Given the description of an element on the screen output the (x, y) to click on. 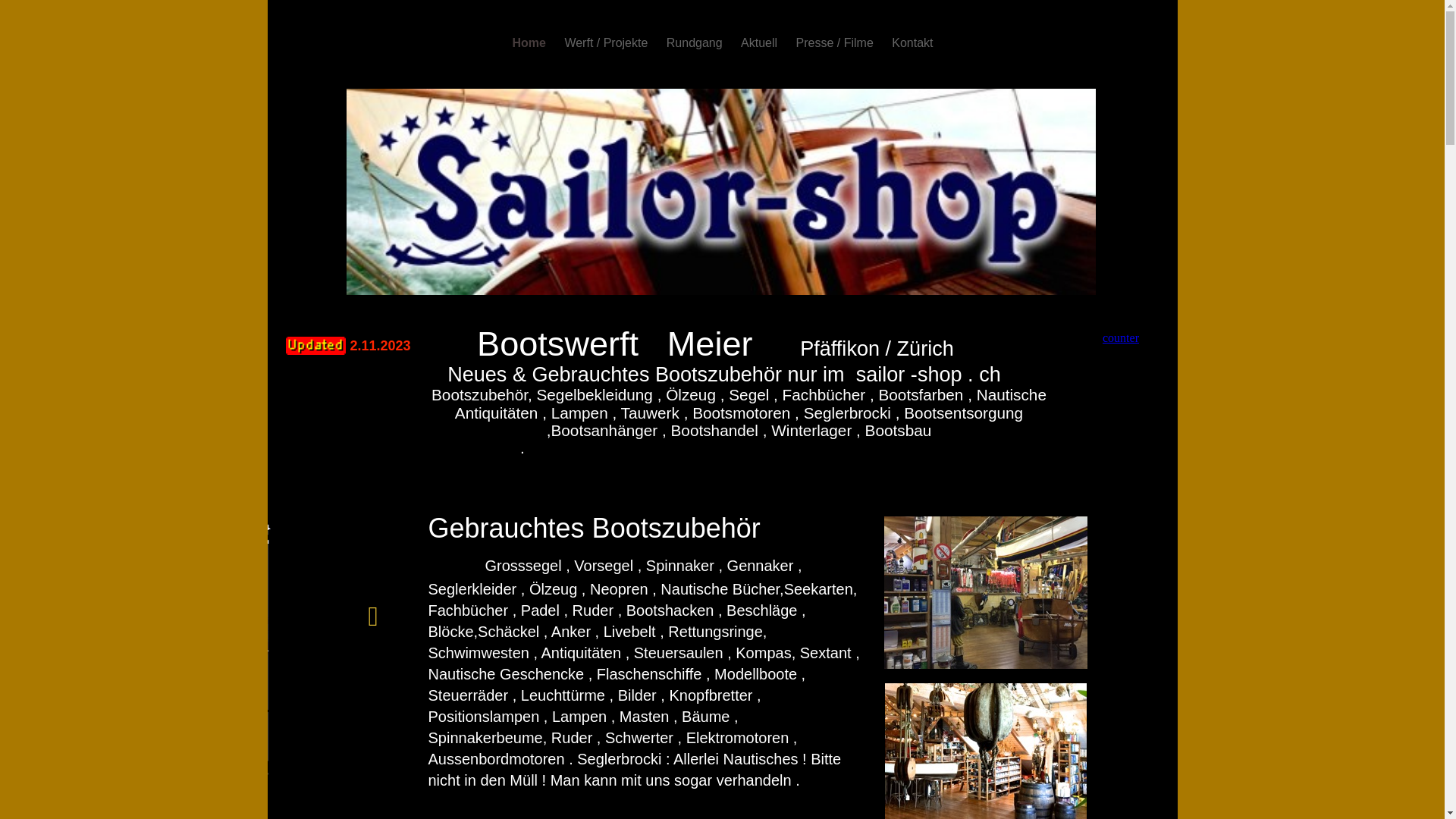
Aktuell Element type: text (760, 42)
Werft / Projekte Element type: text (607, 42)
Presse / Filme Element type: text (836, 42)
Kontakt Element type: text (911, 42)
Home Element type: text (530, 42)
Rundgang Element type: text (695, 42)
